Given the description of an element on the screen output the (x, y) to click on. 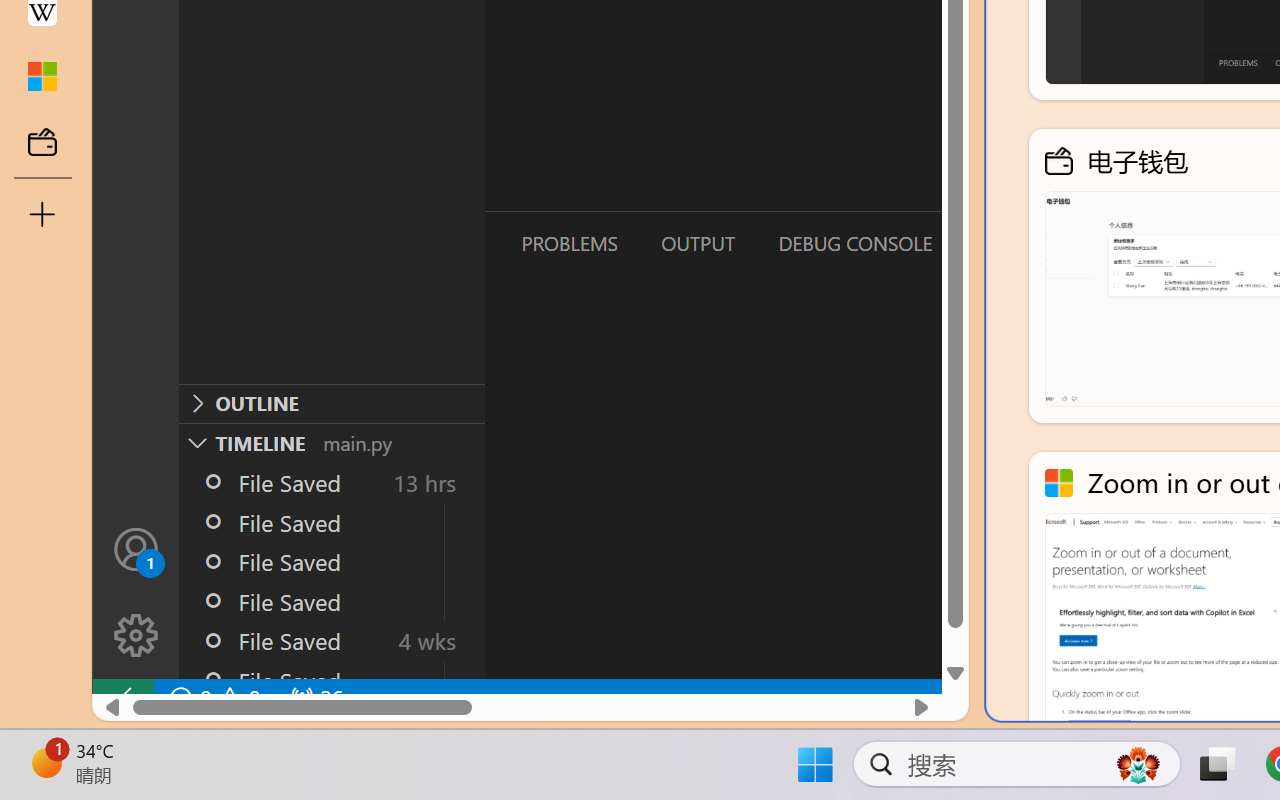
Manage (135, 591)
Terminal (Ctrl+`) (1021, 243)
remote (122, 698)
No Problems (212, 698)
Debug Console (Ctrl+Shift+Y) (854, 243)
Timeline Section (331, 442)
